Given the description of an element on the screen output the (x, y) to click on. 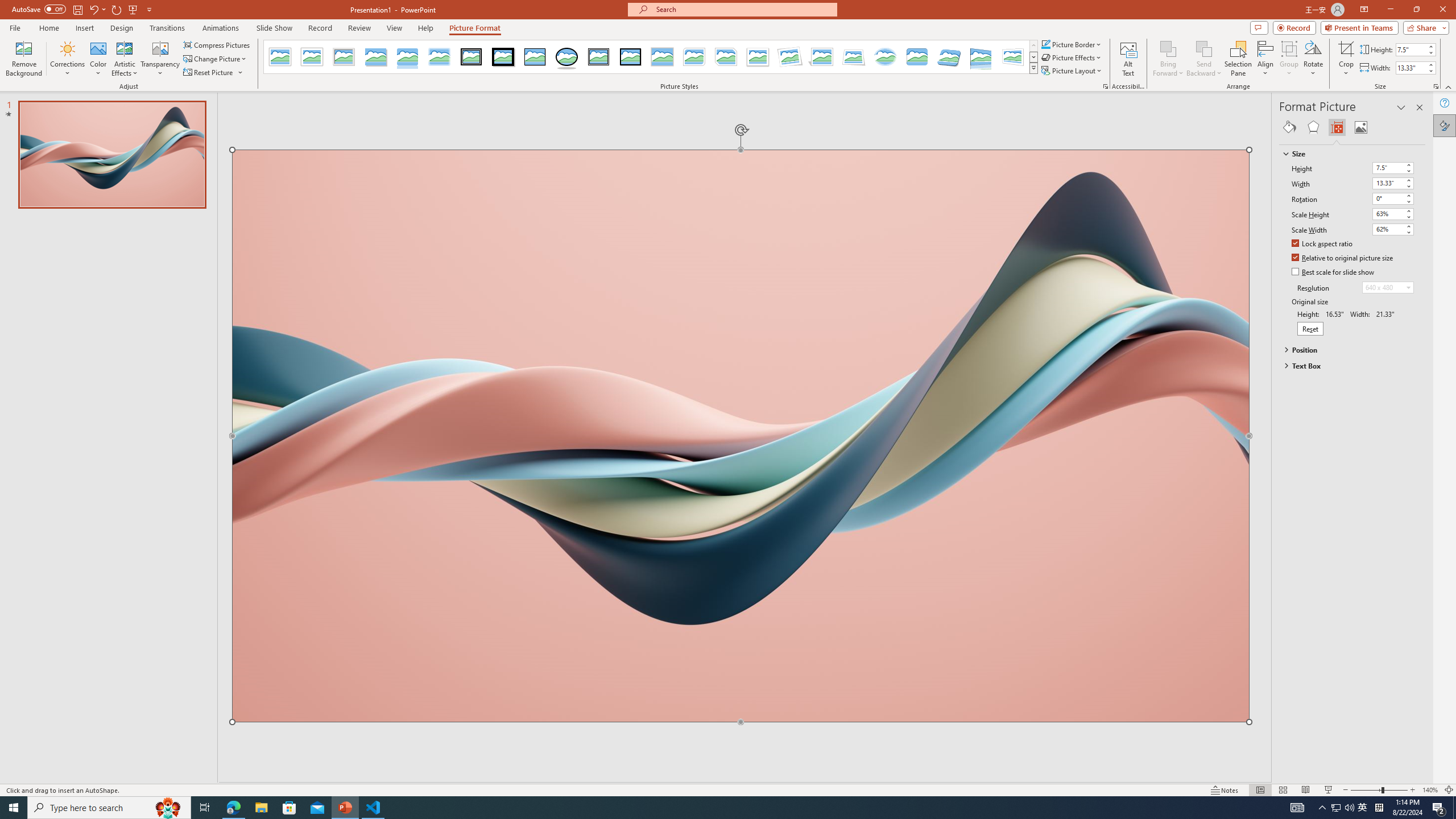
Picture Border (1071, 44)
Soft Edge Oval (885, 56)
Rotate (1312, 58)
Simple Frame, Black (535, 56)
Less (1430, 70)
Scale Height (1388, 213)
Reflected Perspective Right (981, 56)
Reset Picture (214, 72)
Height (1393, 167)
